Given the description of an element on the screen output the (x, y) to click on. 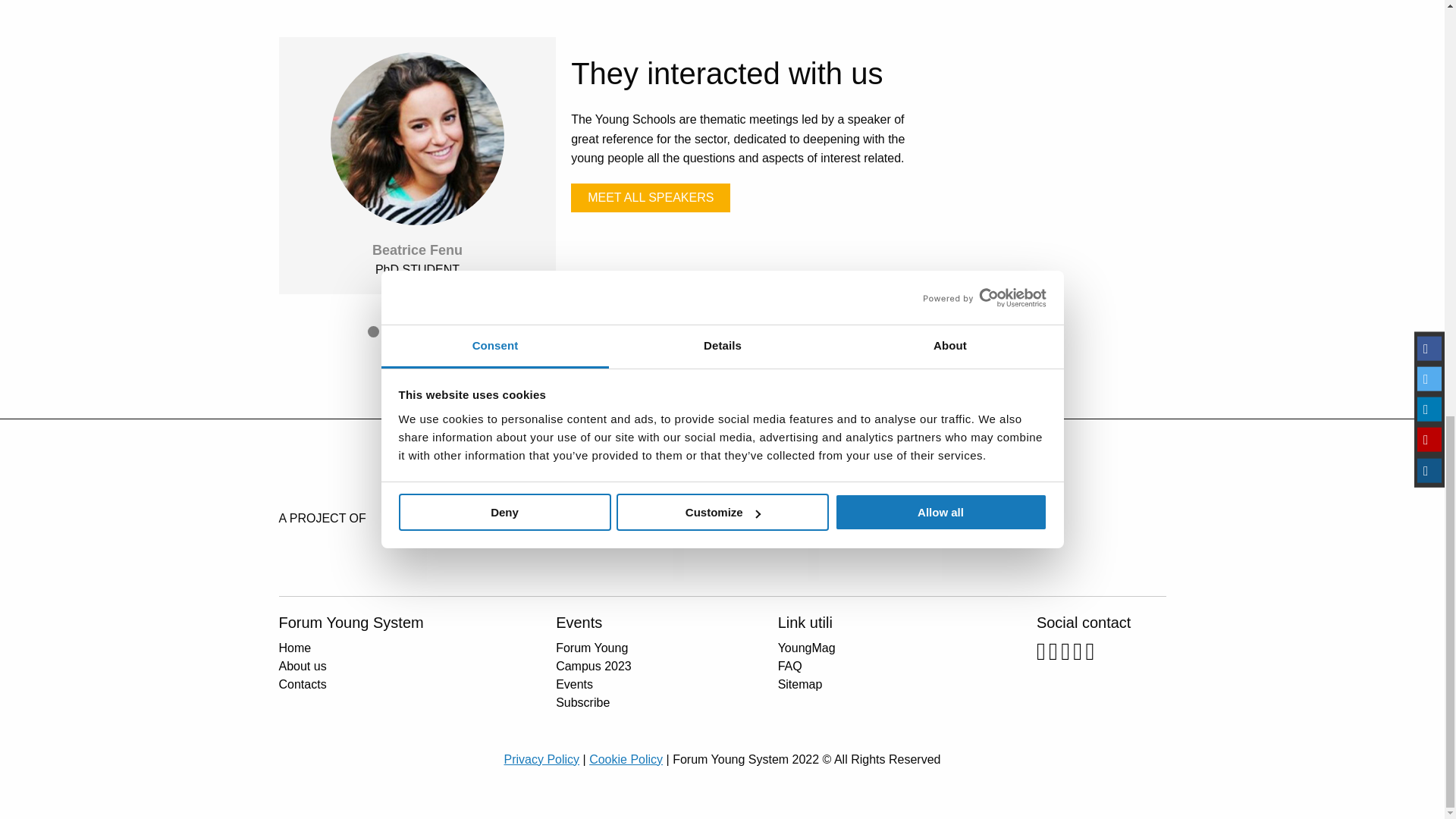
Bartoletti Cicognani (745, 517)
Gerebros (611, 517)
Pleiadi International (487, 517)
Visualitica (880, 517)
